Given the description of an element on the screen output the (x, y) to click on. 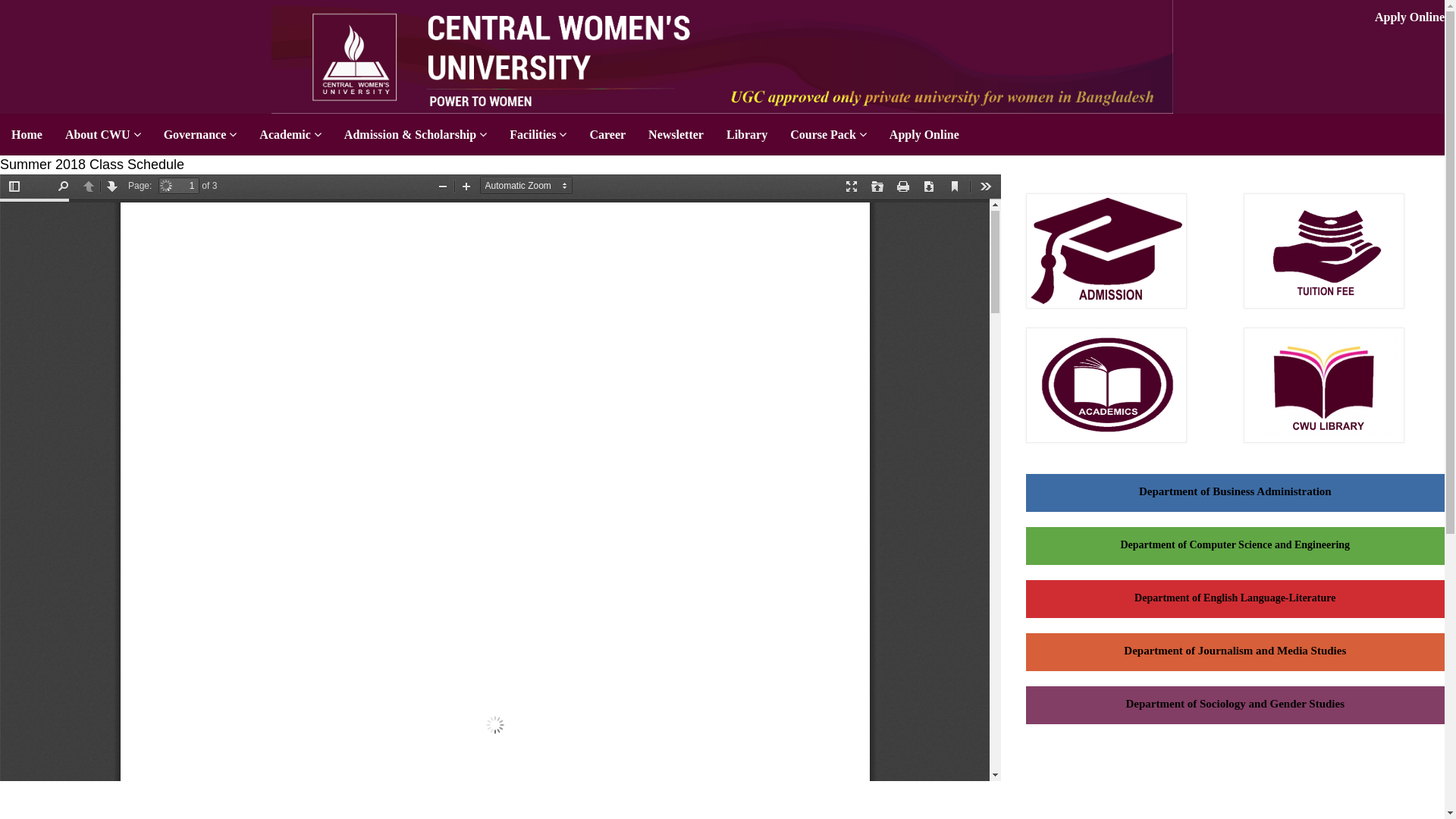
Department of Sociology and Gender Studies Element type: text (1235, 702)
Apply Online Element type: text (1409, 16)
Admission & Scholarship Element type: text (415, 134)
Course Pack Element type: text (828, 134)
About CWU Element type: text (102, 134)
Governance Element type: text (200, 134)
Department of English Language-Literature Element type: text (1234, 597)
Department of Business Administration Element type: text (1235, 490)
Facilities Element type: text (537, 134)
Home Element type: text (26, 134)
Apply Online Element type: text (924, 134)
Career Element type: text (607, 134)
Department of Computer Science and Engineering Element type: text (1234, 544)
Department of Journalism and Media Studies Element type: text (1235, 650)
Academic Element type: text (289, 134)
Summer 2018 Class Schedule Element type: text (92, 164)
Newsletter Element type: text (676, 134)
Library Element type: text (746, 134)
